Given the description of an element on the screen output the (x, y) to click on. 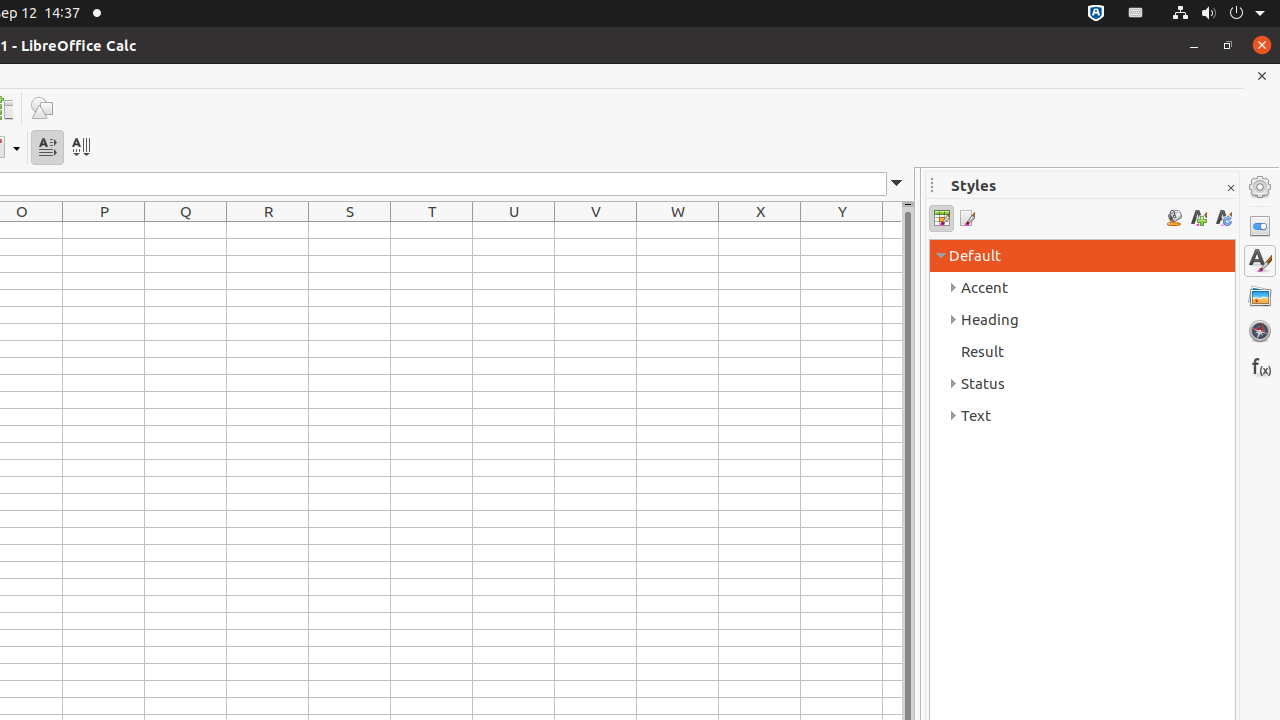
P1 Element type: table-cell (104, 230)
Page Styles Element type: push-button (966, 218)
System Element type: menu (1218, 13)
Expand Formula Bar Element type: push-button (897, 183)
Cell Styles Element type: push-button (941, 218)
